Given the description of an element on the screen output the (x, y) to click on. 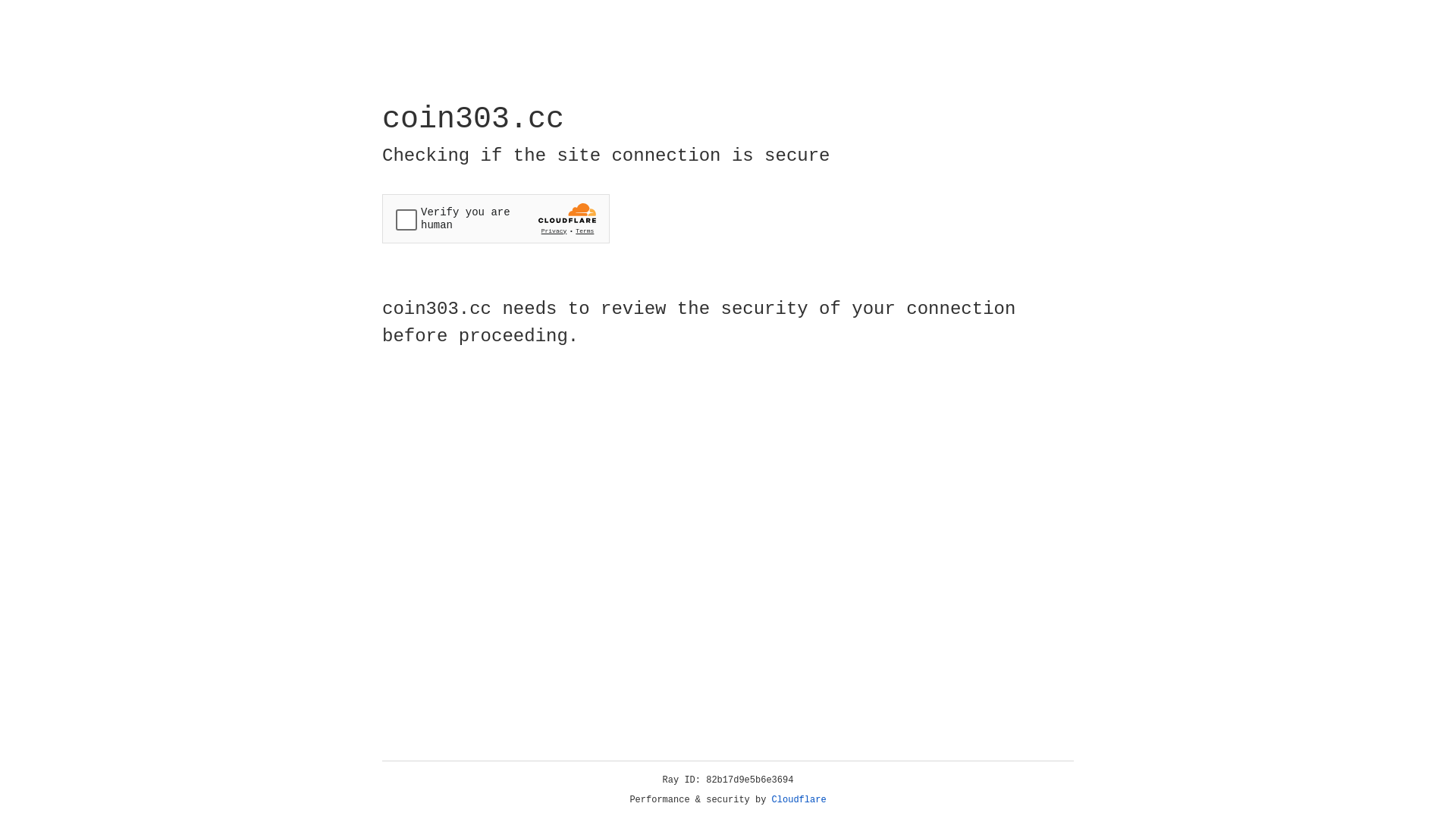
Cloudflare Element type: text (798, 799)
Widget containing a Cloudflare security challenge Element type: hover (495, 218)
